Given the description of an element on the screen output the (x, y) to click on. 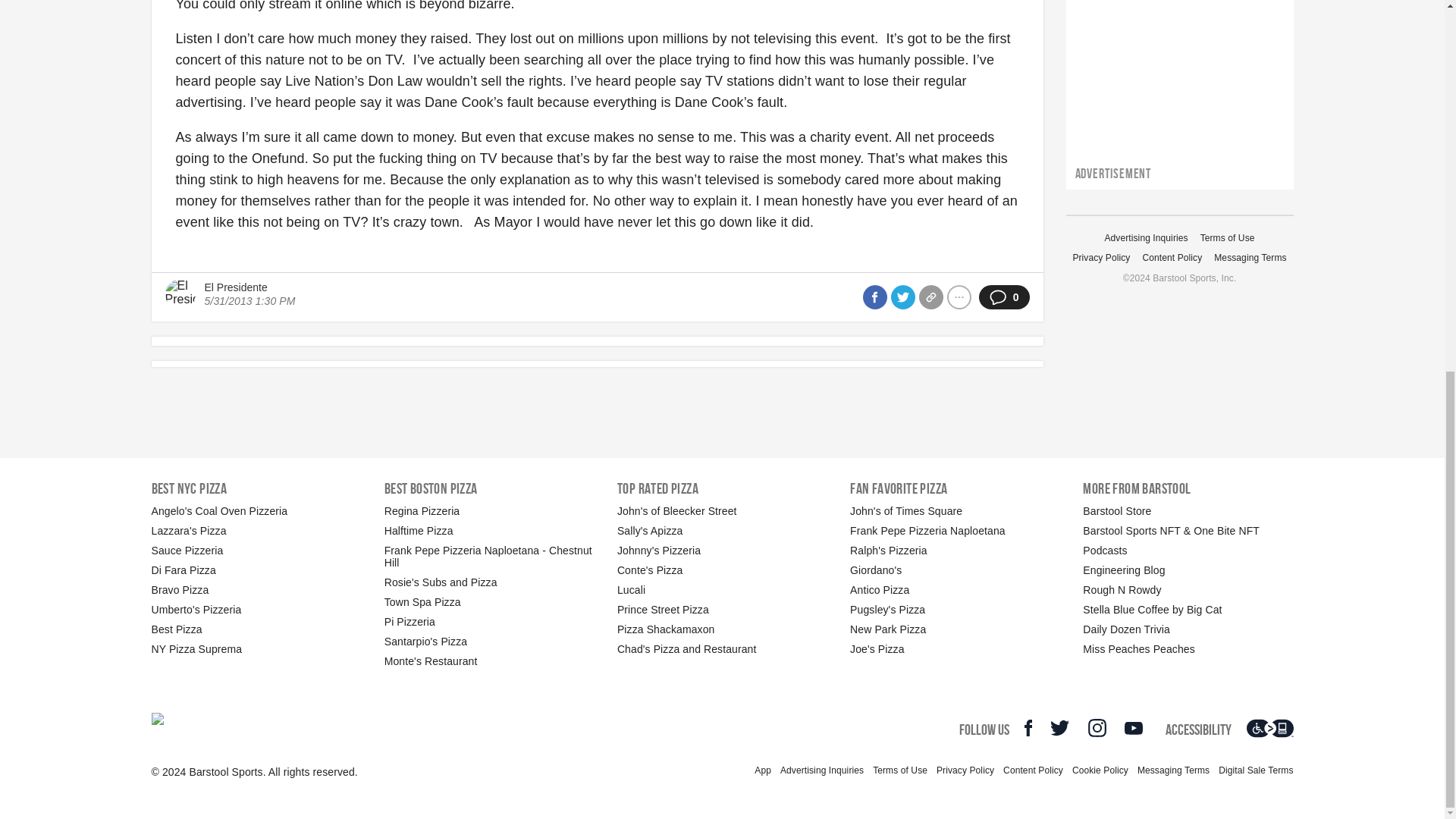
Instagram Icon (1096, 728)
Level Access website accessibility icon (1270, 727)
YouTube Icon (1132, 728)
Twitter Icon (1058, 728)
